Given the description of an element on the screen output the (x, y) to click on. 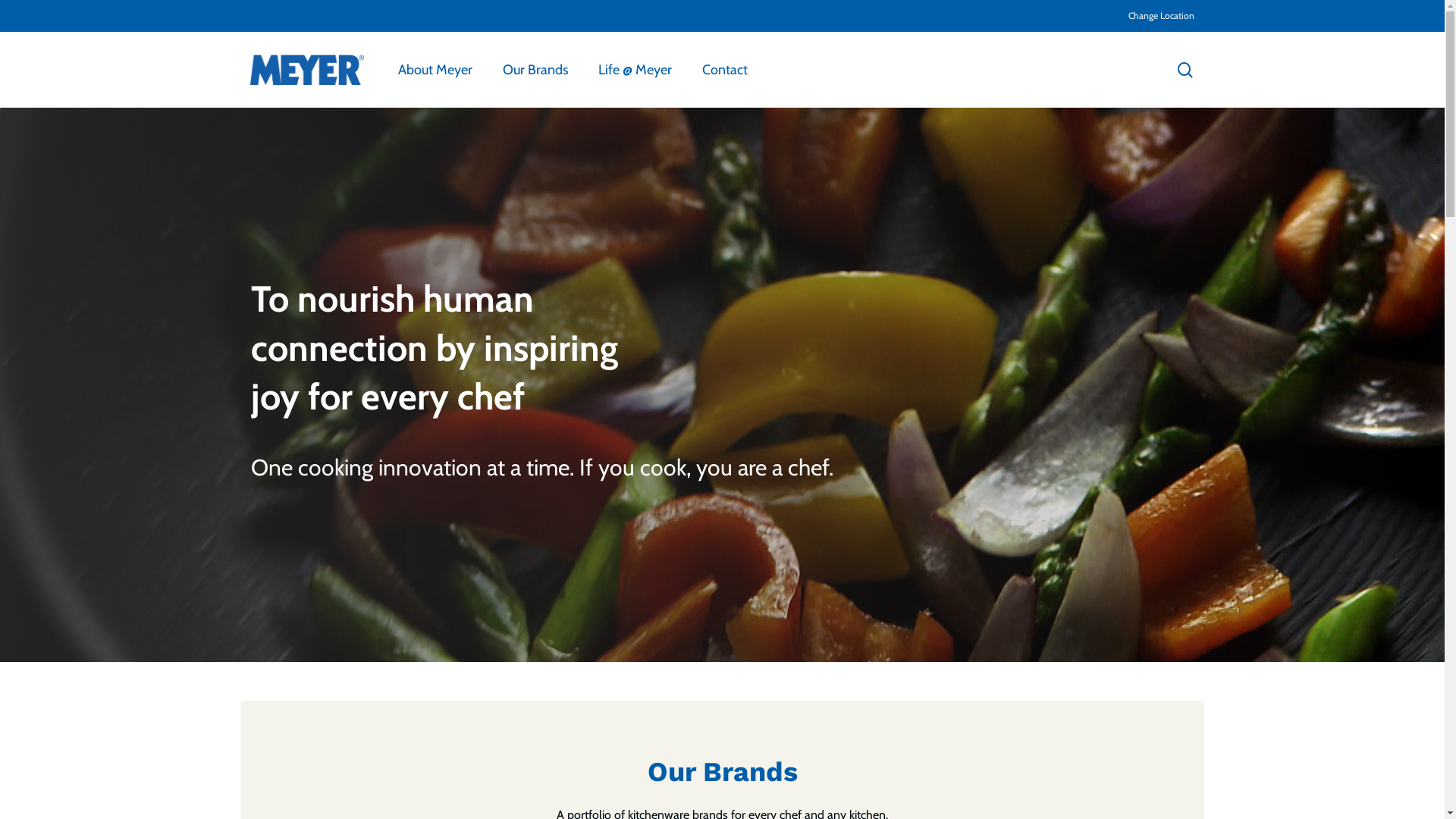
Our Brands Element type: text (535, 69)
Contact Element type: text (724, 69)
About Meyer Element type: text (434, 69)
search Element type: text (1185, 70)
Change Location Element type: text (1161, 15)
Life @ Meyer Element type: text (635, 69)
